Given the description of an element on the screen output the (x, y) to click on. 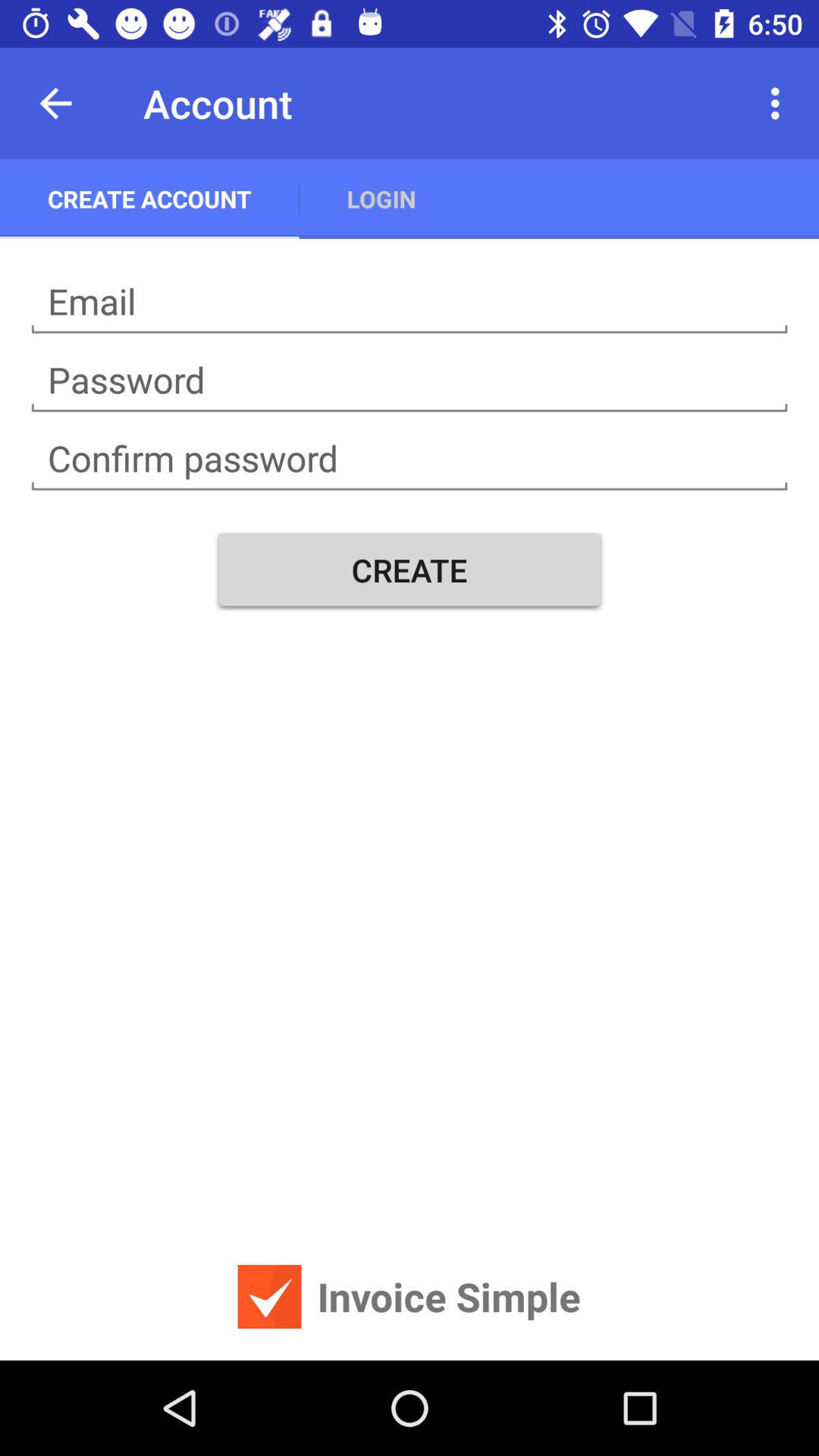
click the item to the left of account icon (55, 103)
